Given the description of an element on the screen output the (x, y) to click on. 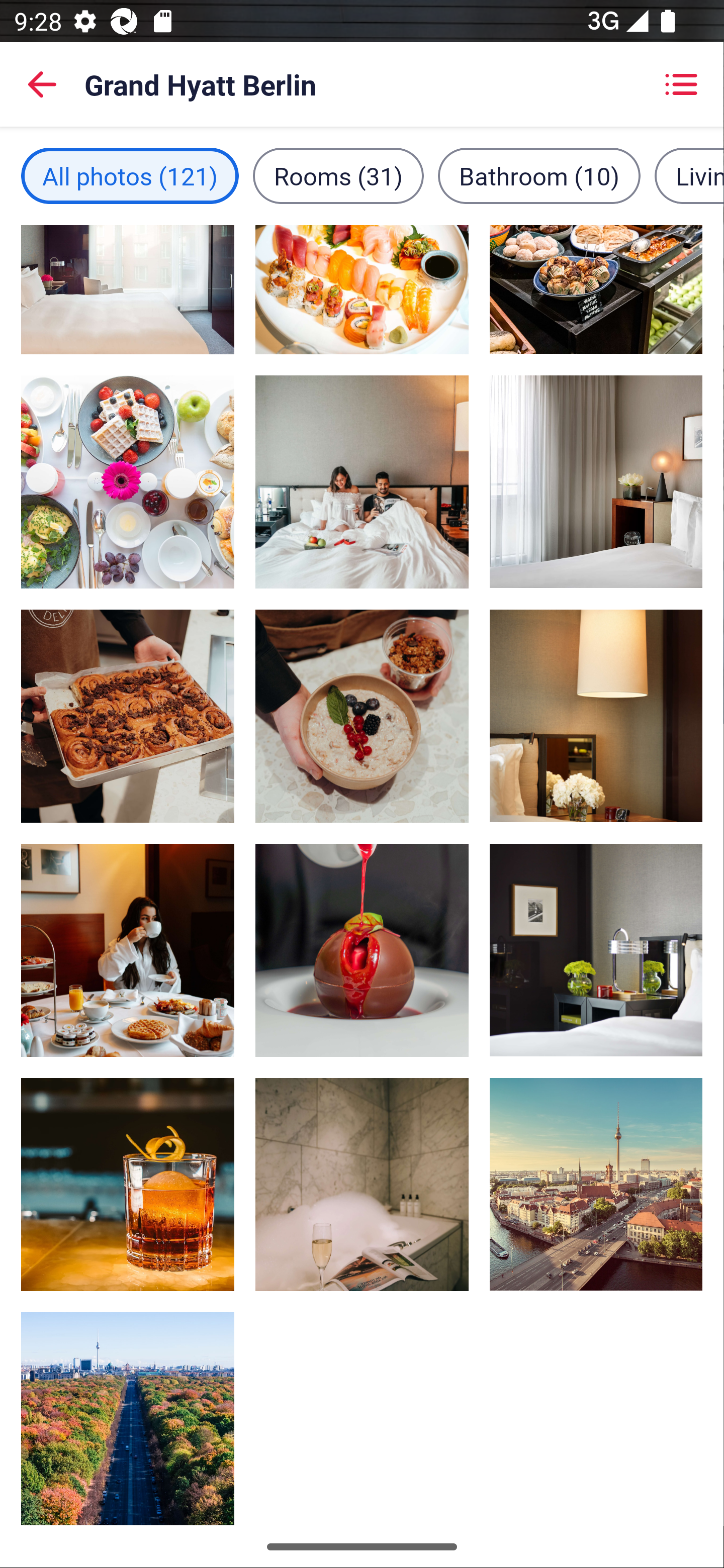
Back (42, 84)
Showing grid view (681, 84)
All photos filter, 121 images (129, 175)
Rooms filter, 31 images (337, 175)
Bathroom filter, 10 images (539, 175)
Living area filter, 12 images (688, 175)
2 restaurants, Asian cuisine, image (361, 289)
Daily buffet breakfast (EUR 44 per person), image (595, 289)
2 restaurants, Asian cuisine, image (127, 481)
2 restaurants, Asian cuisine, image (127, 716)
2 restaurants, Asian cuisine, image (361, 716)
2 restaurants, Asian cuisine, image (361, 949)
2 restaurants, Asian cuisine, image (127, 1184)
Point of interest, image (595, 1184)
Point of interest, image (127, 1418)
